Given the description of an element on the screen output the (x, y) to click on. 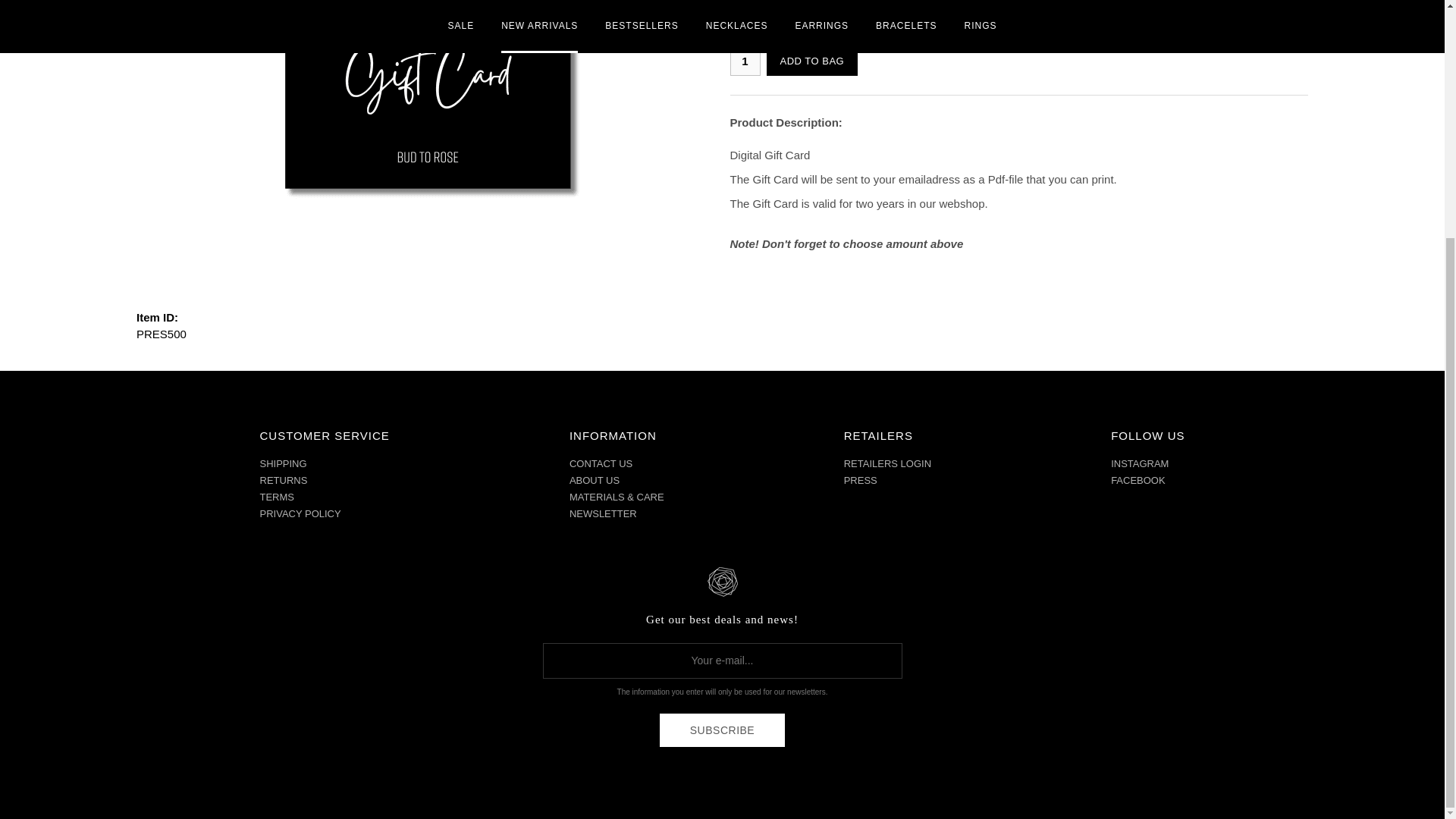
CONTACT US (600, 463)
RETAILERS LOGIN (887, 463)
TERMS (276, 496)
Quantity (744, 61)
PRESS (860, 480)
RETURNS (283, 480)
ABOUT US (594, 480)
NEWSLETTER (603, 513)
PRIVACY POLICY (299, 513)
SHIPPING (282, 463)
INSTAGRAM (1139, 463)
1 (744, 61)
ADD TO BAG (811, 61)
FACEBOOK (1138, 480)
